Given the description of an element on the screen output the (x, y) to click on. 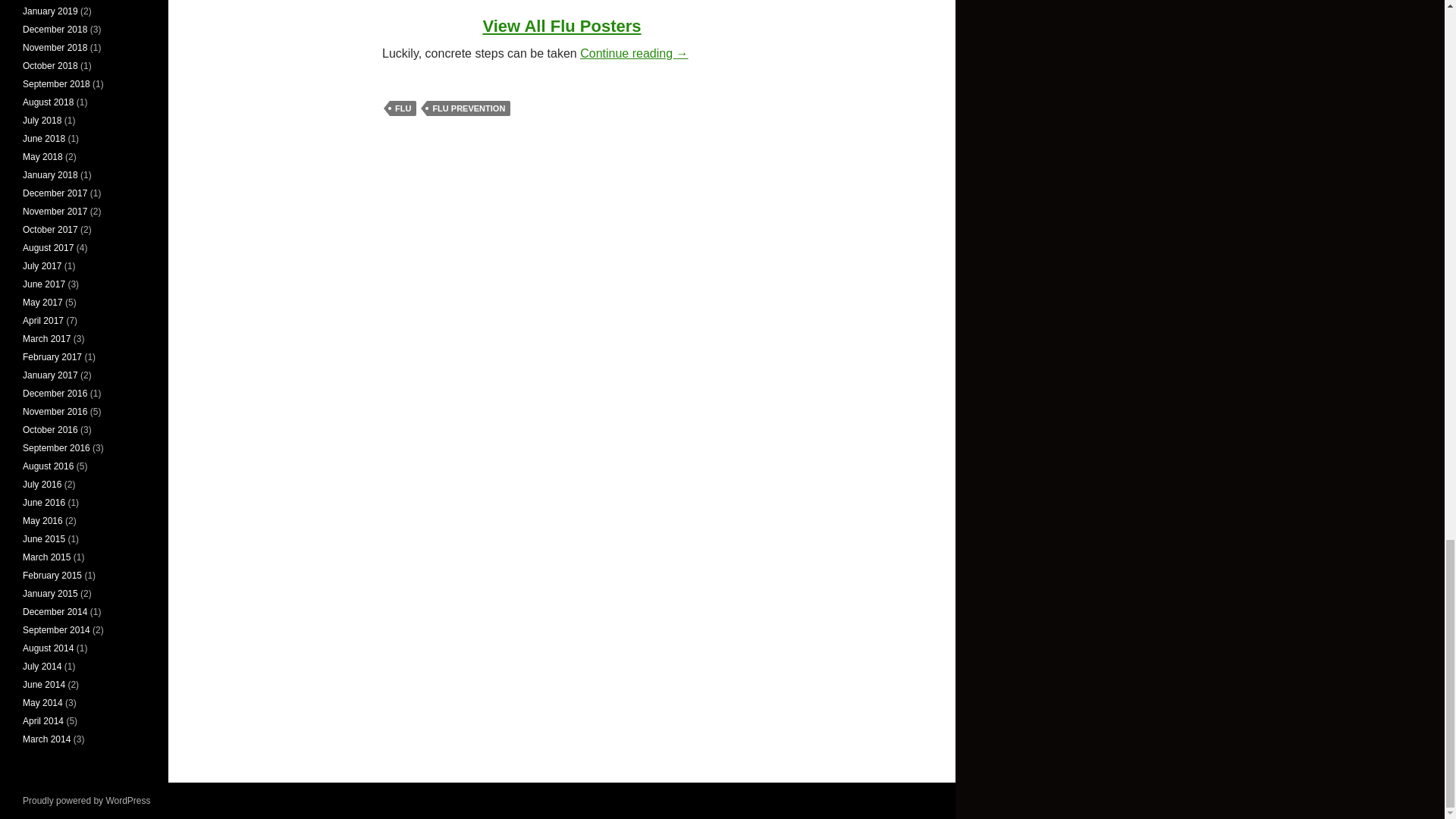
View All Flu Posters (560, 26)
FLU (403, 108)
FLU PREVENTION (468, 108)
